Given the description of an element on the screen output the (x, y) to click on. 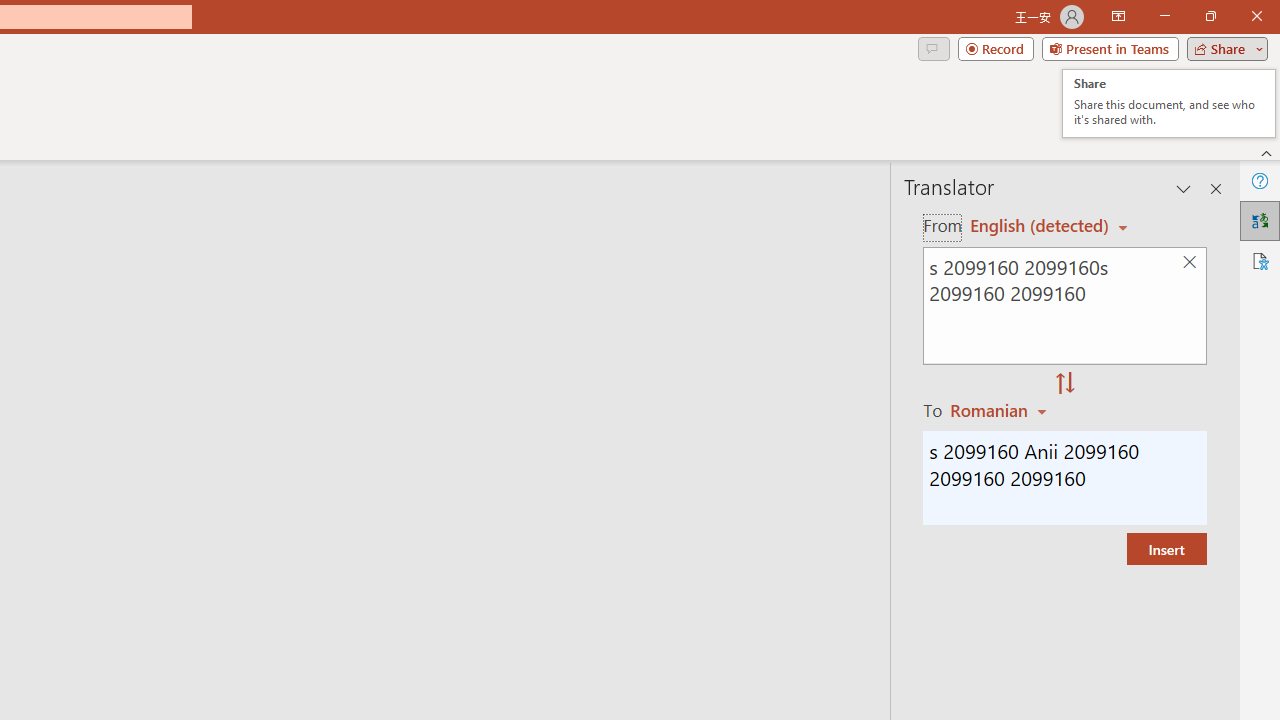
Romanian (1001, 409)
